Given the description of an element on the screen output the (x, y) to click on. 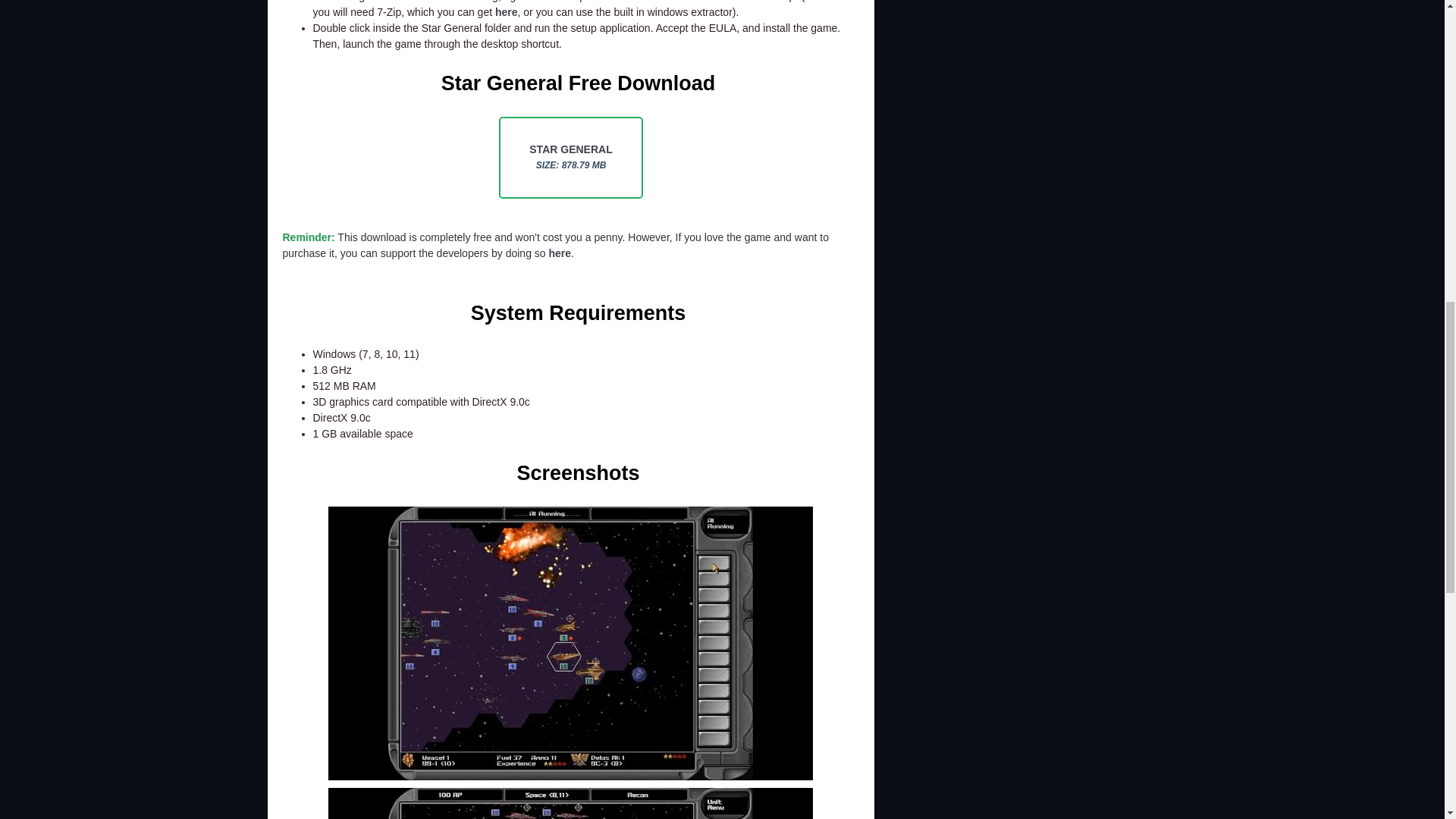
here (560, 253)
here (506, 11)
